Given the description of an element on the screen output the (x, y) to click on. 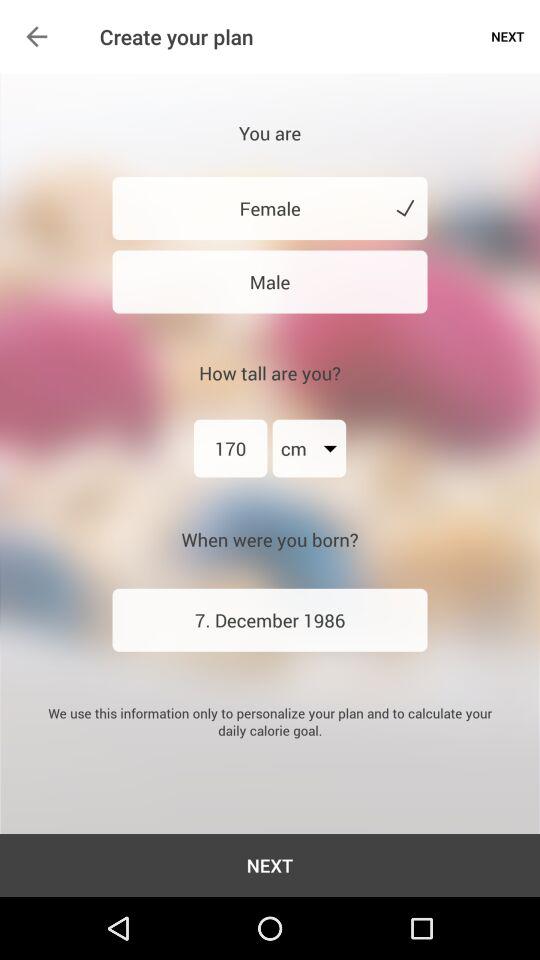
choose the item above we use this (269, 619)
